Given the description of an element on the screen output the (x, y) to click on. 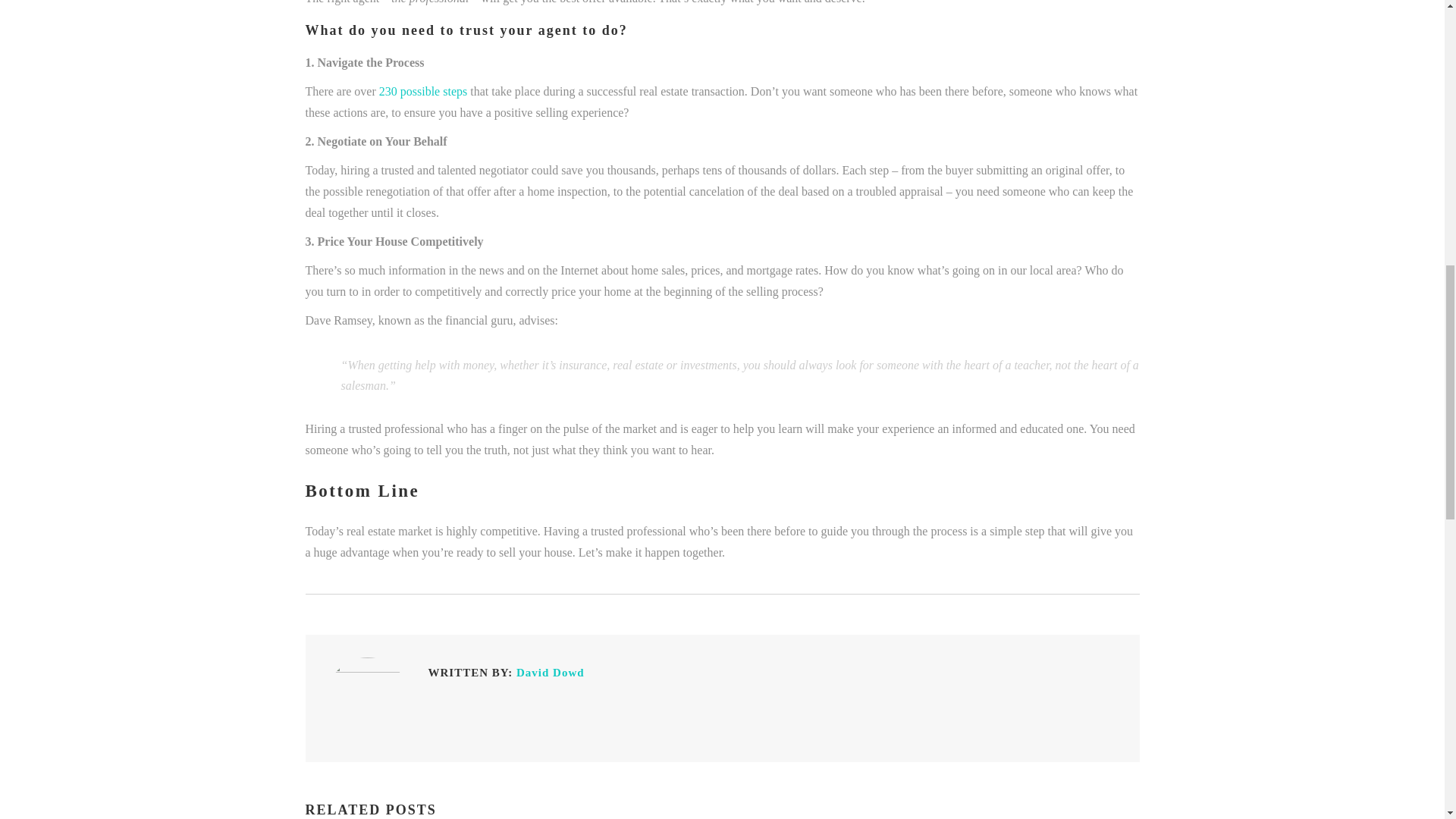
David Dowd (550, 672)
230 possible steps (422, 91)
Not All Agents Are Created Equal (550, 672)
Not All Agents Are Created Equal (367, 699)
